Given the description of an element on the screen output the (x, y) to click on. 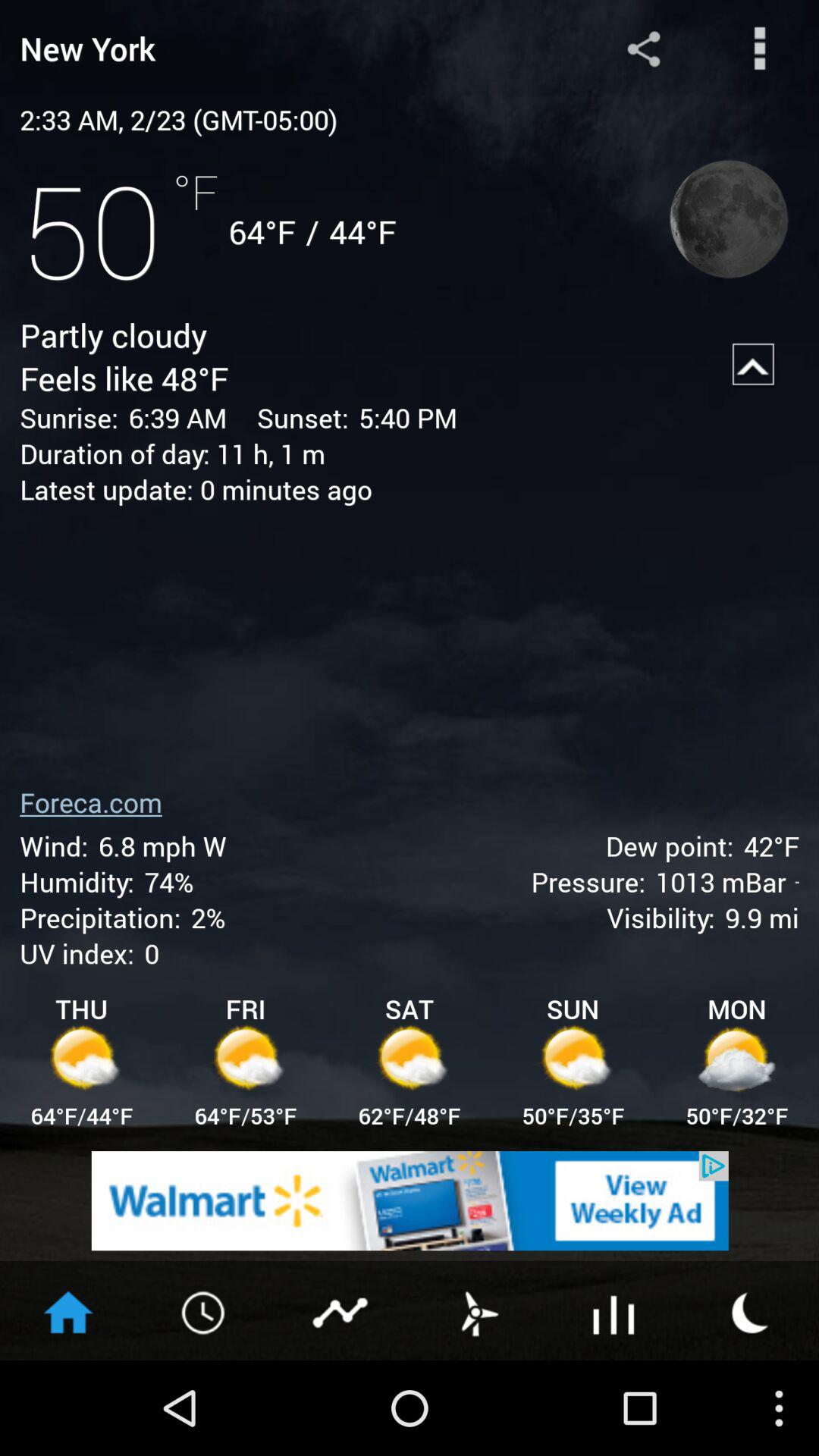
up arrow (753, 364)
